Given the description of an element on the screen output the (x, y) to click on. 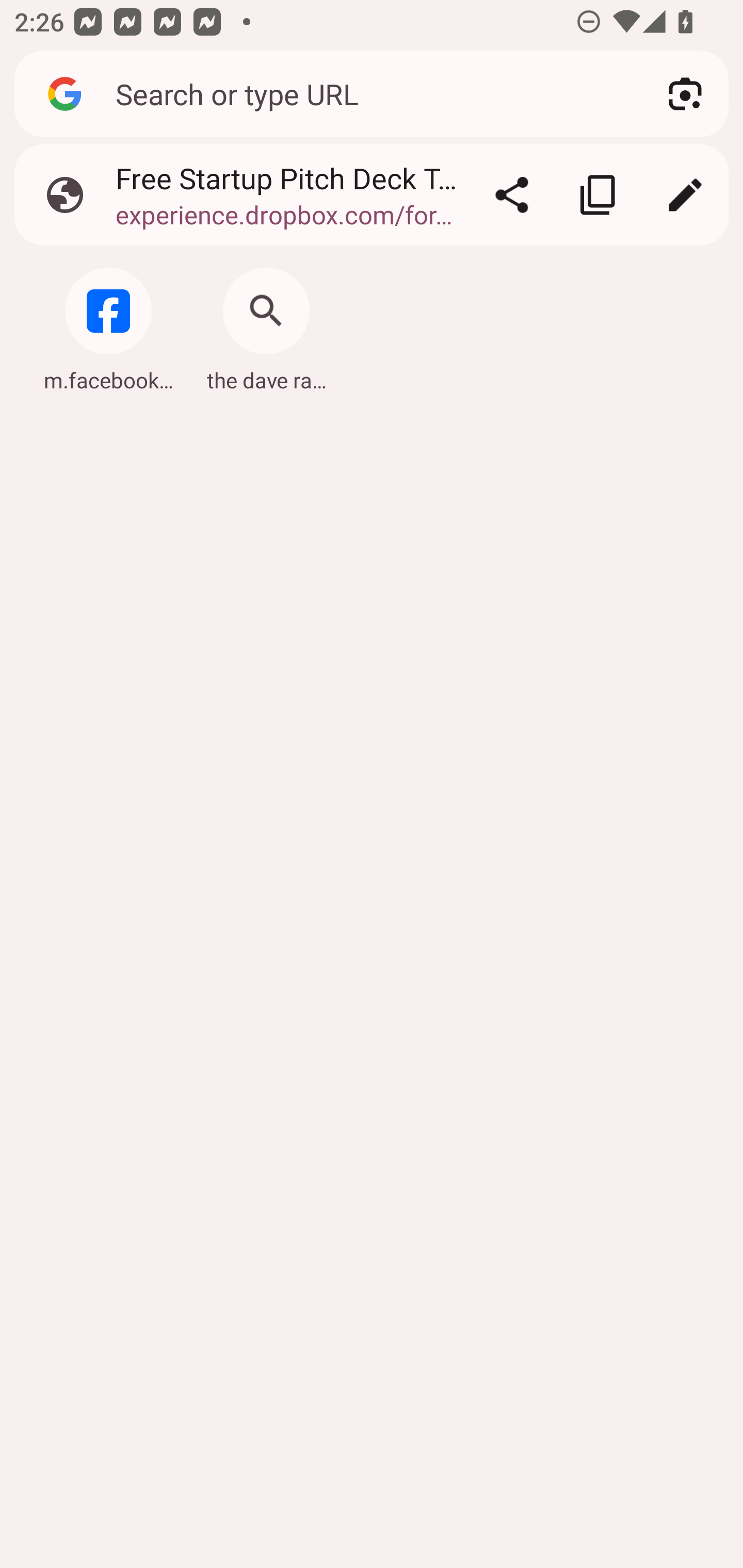
Search with your camera using Google Lens (684, 93)
Search or type URL (367, 92)
Share… (511, 195)
Copy link (598, 195)
Edit (684, 195)
Search: the dave ramsey show the dave ramsey show (265, 324)
